Given the description of an element on the screen output the (x, y) to click on. 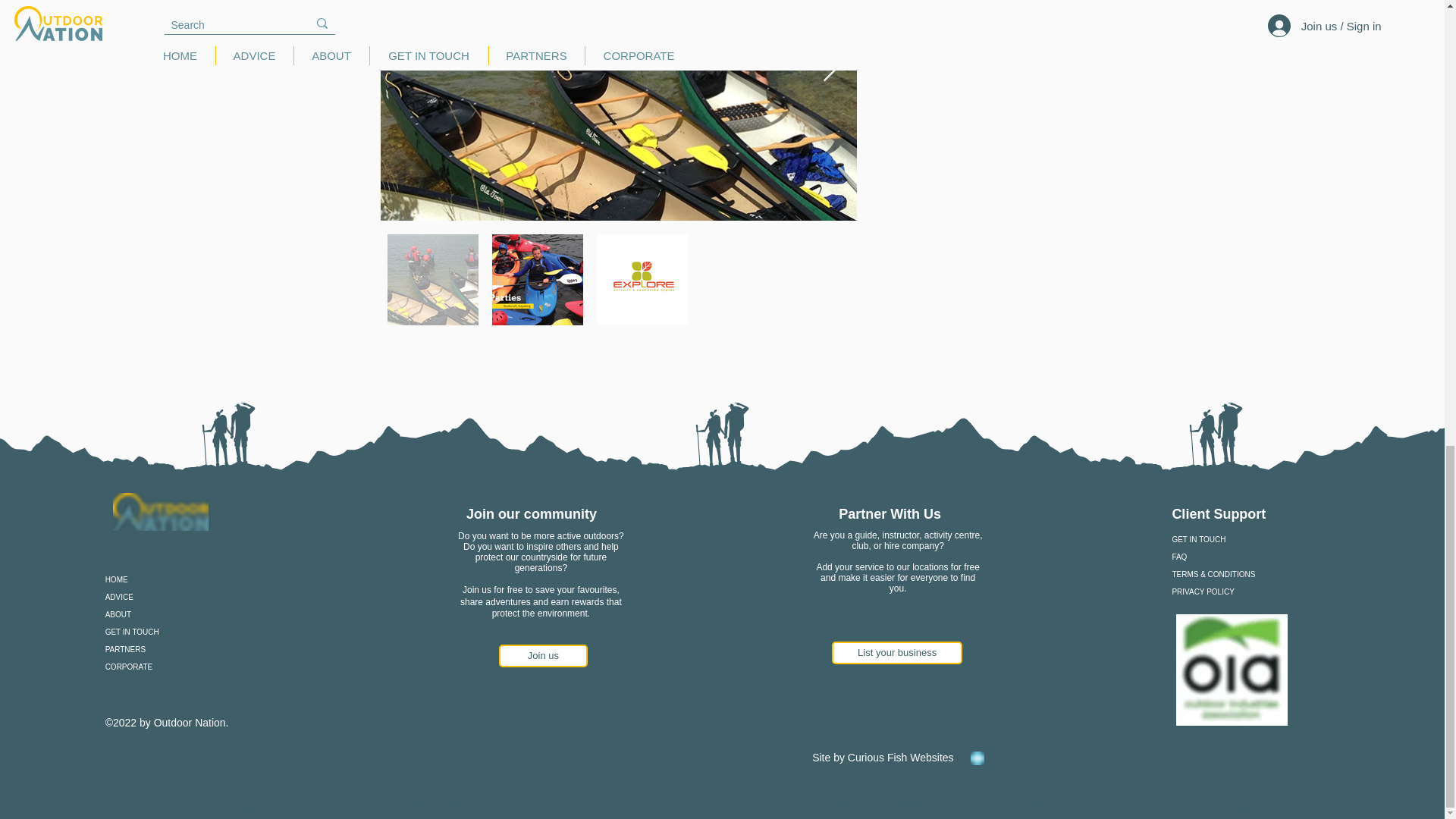
Join us (543, 655)
List your business (896, 652)
Site by Curious Fish Websites  (884, 757)
ABOUT (166, 614)
CORPORATE (166, 666)
GET IN TOUCH (166, 631)
ADVICE (166, 597)
GET IN TOUCH (1236, 538)
HOME (166, 579)
